Given the description of an element on the screen output the (x, y) to click on. 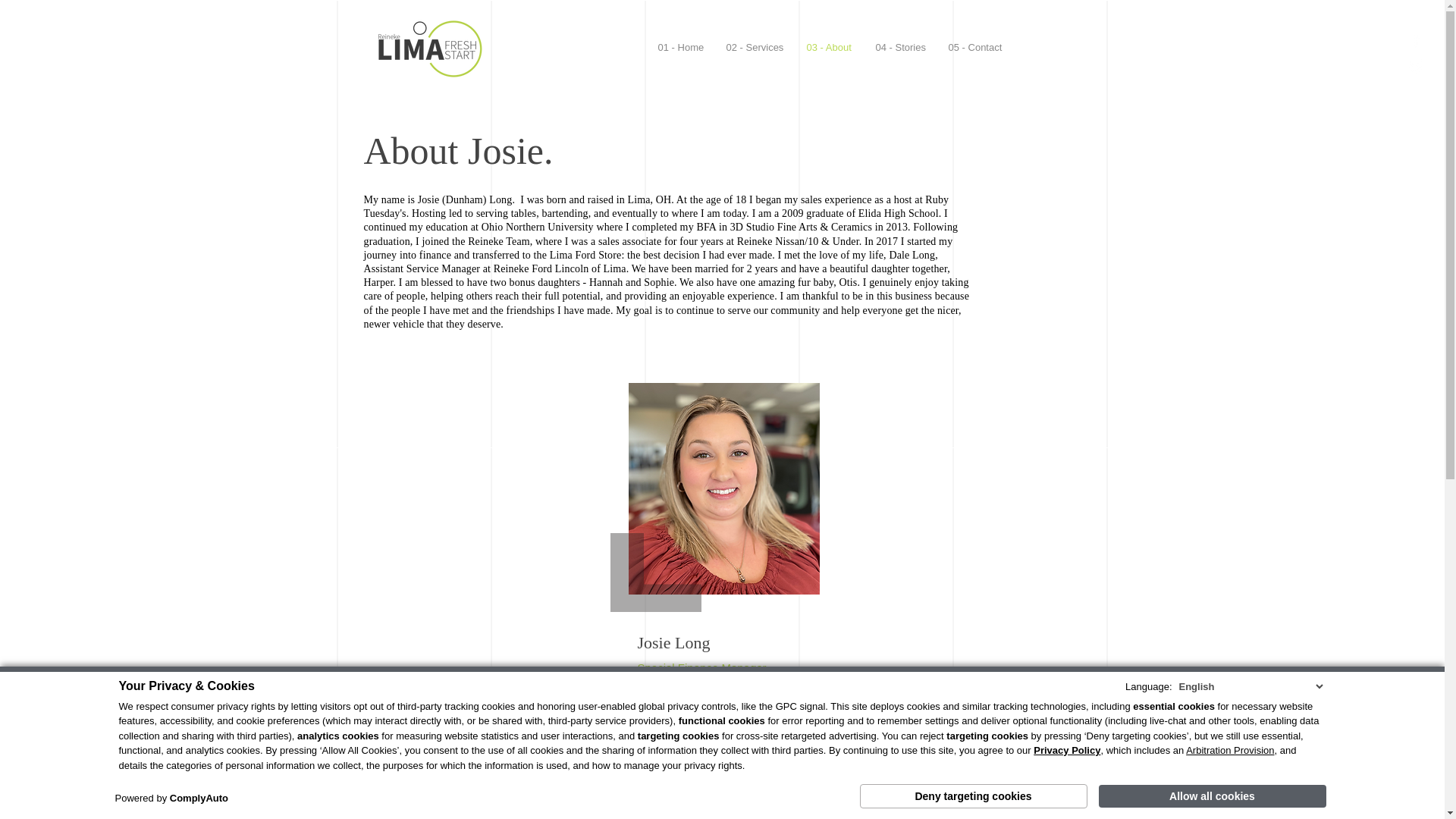
Apply Today! (720, 752)
Privacy Policy (1066, 756)
Allow all cookies (1210, 795)
04 - Stories (900, 47)
01 - Home (680, 47)
Deny targeting cookies (973, 795)
05 - Contact (975, 47)
03 - About (828, 47)
ComplyAuto (199, 797)
02 - Services (754, 47)
